Given the description of an element on the screen output the (x, y) to click on. 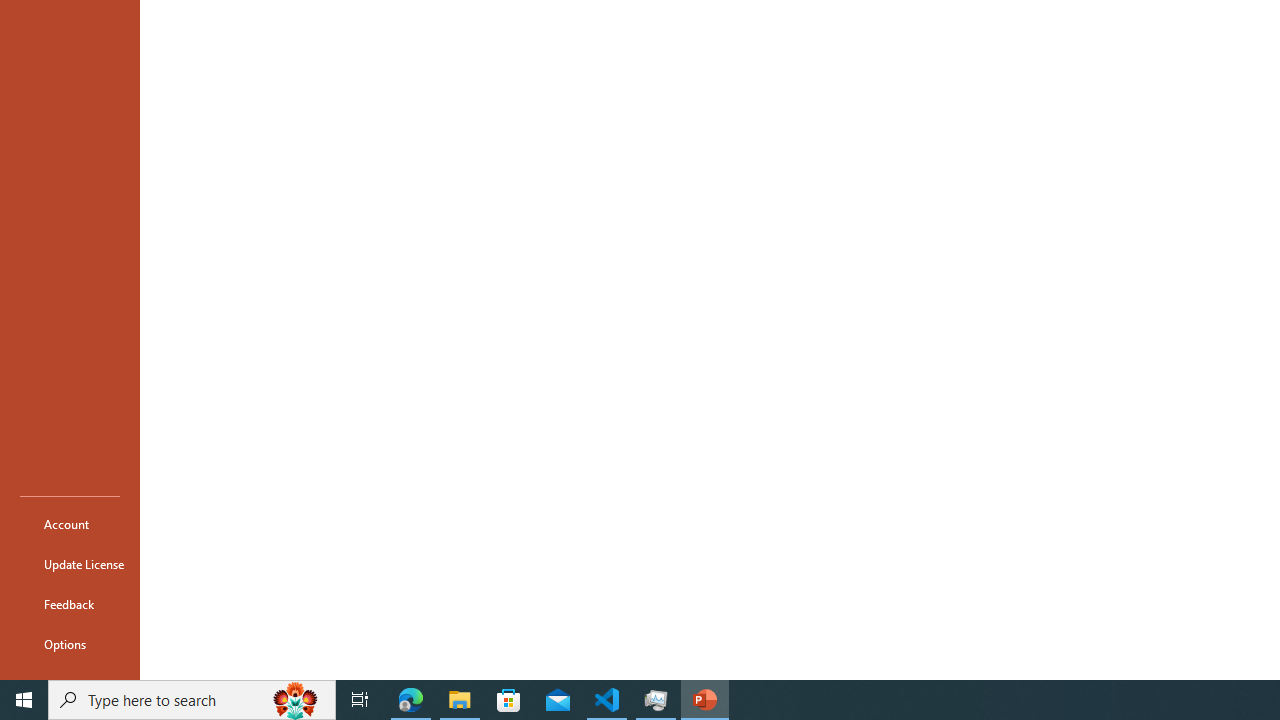
Options (69, 643)
Account (69, 523)
Update License (69, 563)
Feedback (69, 603)
